Given the description of an element on the screen output the (x, y) to click on. 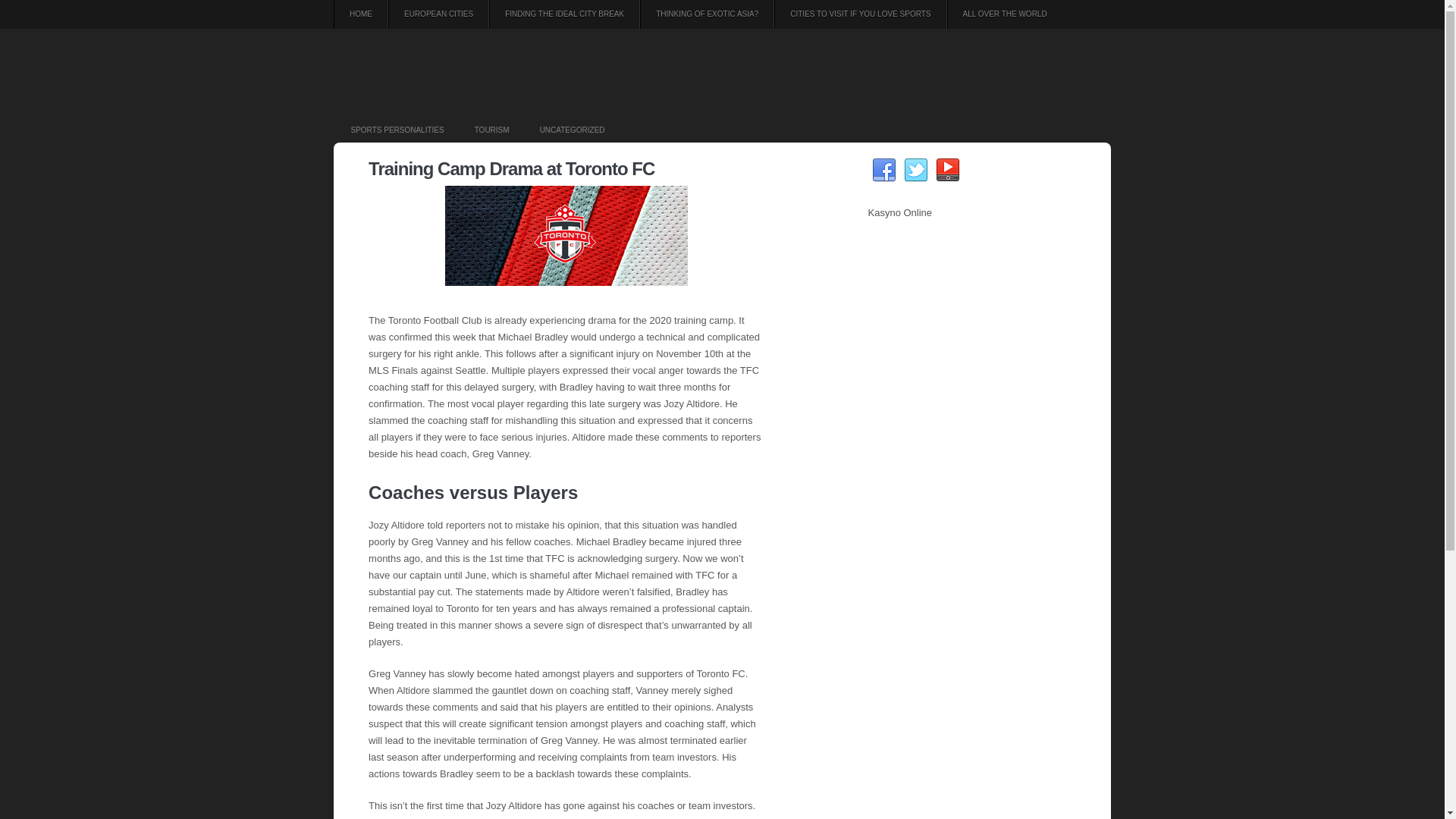
THINKING OF EXOTIC ASIA? (706, 14)
FINDING THE IDEAL CITY BREAK (564, 14)
CITIES TO VISIT IF YOU LOVE SPORTS (859, 14)
Twitter (916, 169)
HOME (360, 14)
ALL OVER THE WORLD (1004, 14)
Facebook (884, 169)
EUROPEAN CITIES (437, 14)
YouTube (947, 169)
